Given the description of an element on the screen output the (x, y) to click on. 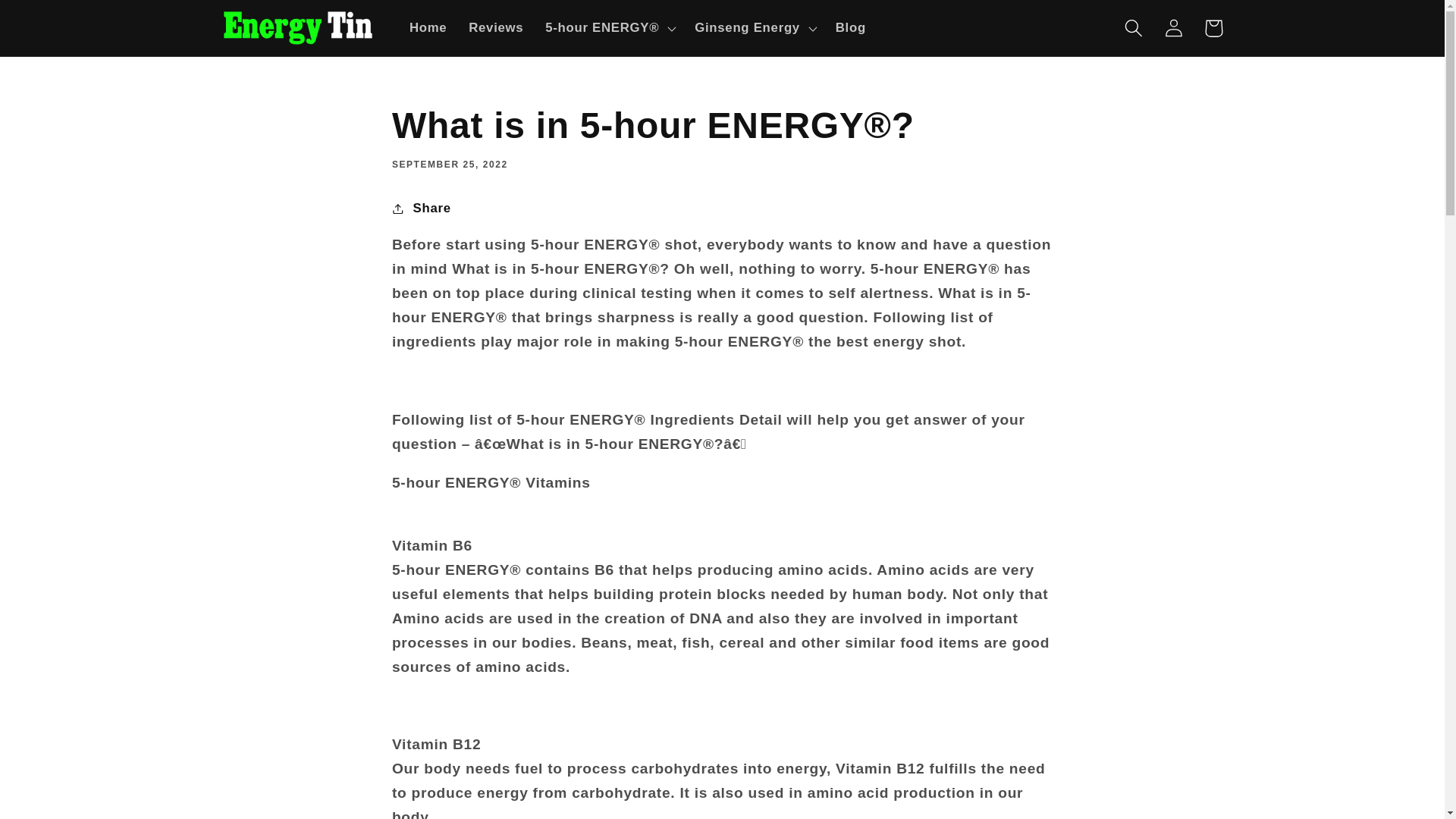
Skip to content (55, 20)
Reviews (496, 27)
Home (428, 27)
